Given the description of an element on the screen output the (x, y) to click on. 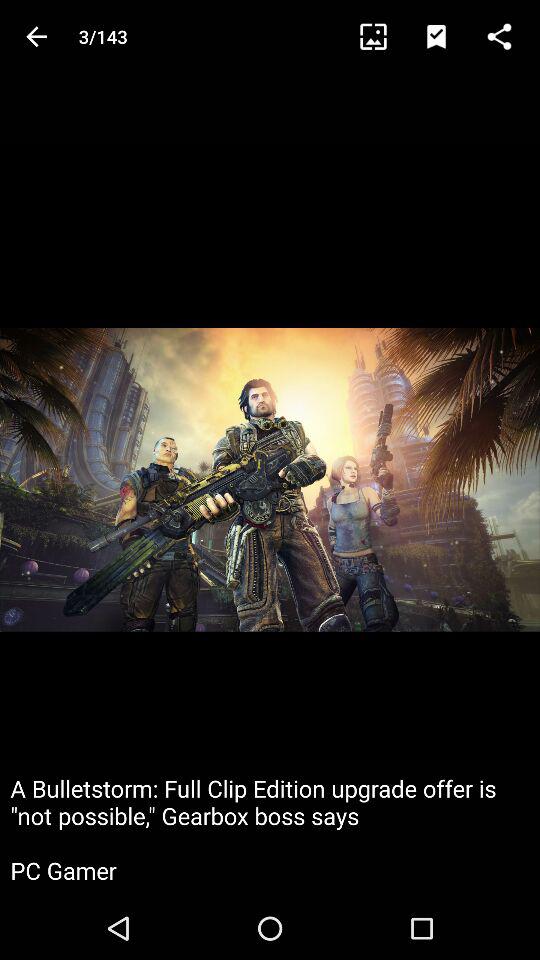
this is the function button that allows you to share what you are looking at with other people (508, 36)
